Given the description of an element on the screen output the (x, y) to click on. 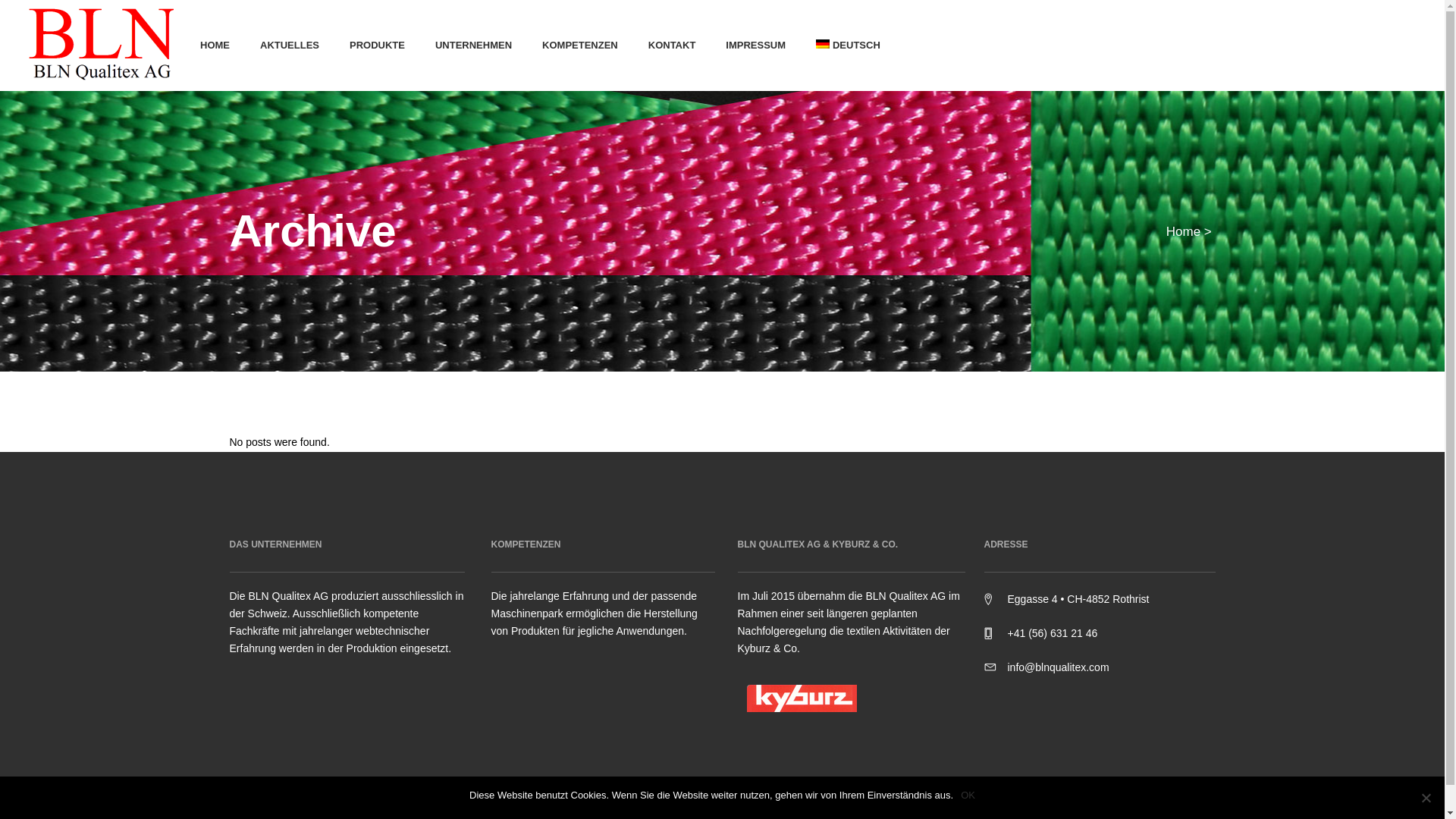
PRODUKTE Element type: text (377, 45)
Nein Element type: hover (1425, 797)
HOME Element type: text (214, 45)
UNTERNEHMEN Element type: text (473, 45)
AKTUELLES Element type: text (289, 45)
KONTAKT Element type: text (672, 45)
KOMPETENZEN Element type: text (580, 45)
IMPRESSUM Element type: text (755, 45)
OK Element type: text (967, 795)
Home Element type: text (1183, 231)
DEUTSCH Element type: text (849, 45)
